Given the description of an element on the screen output the (x, y) to click on. 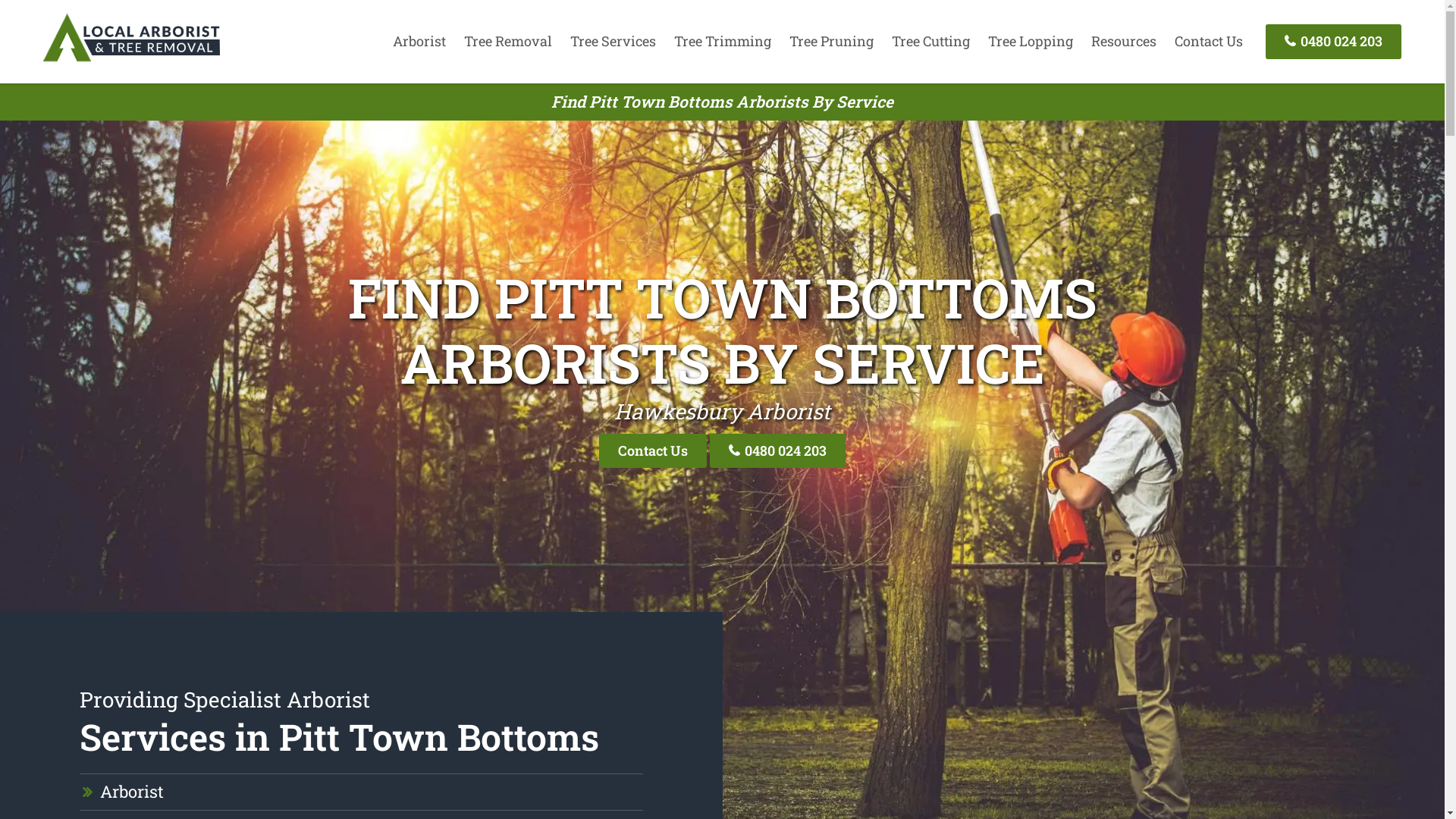
Tree Pruning Element type: text (831, 40)
Local Arborists & Tree Removal Element type: hover (131, 60)
Tree Trimming Element type: text (722, 40)
Contact Us Element type: text (652, 450)
Contact Us Element type: text (1208, 40)
Tree Services Element type: text (612, 40)
0480 024 203 Element type: text (1333, 41)
Arborist Element type: text (419, 40)
Arborist Element type: text (131, 791)
Tree Removal Element type: text (507, 40)
0480 024 203 Element type: text (777, 450)
Tree Lopping Element type: text (1030, 40)
Resources Element type: text (1123, 40)
Tree Cutting Element type: text (930, 40)
